Given the description of an element on the screen output the (x, y) to click on. 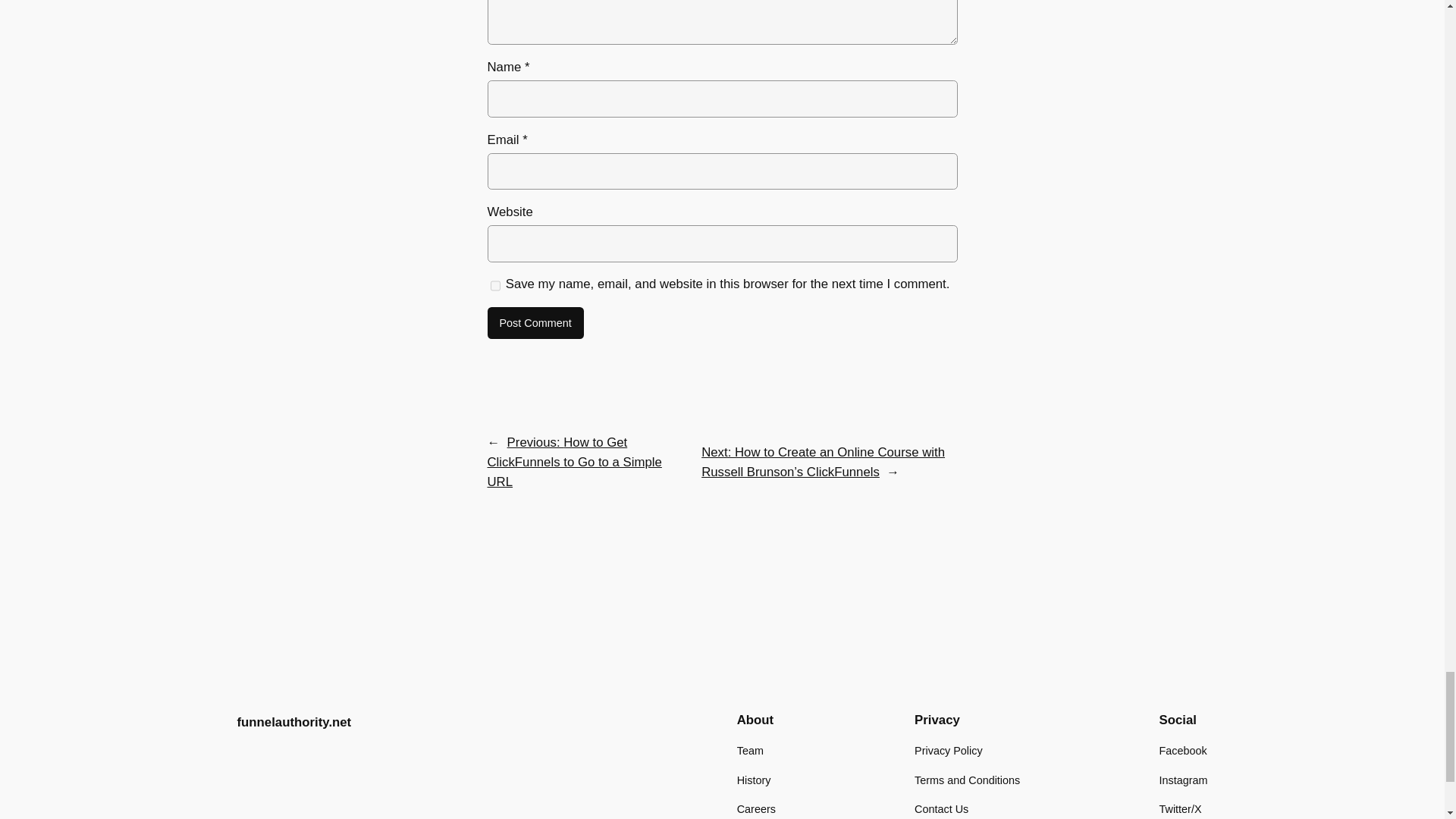
Terms and Conditions (967, 780)
Post Comment (534, 323)
funnelauthority.net (292, 721)
Careers (756, 808)
Privacy Policy (948, 750)
Instagram (1182, 780)
History (753, 780)
Contact Us (941, 808)
Post Comment (534, 323)
Previous: How to Get ClickFunnels to Go to a Simple URL (573, 461)
Facebook (1182, 750)
Team (749, 750)
